Given the description of an element on the screen output the (x, y) to click on. 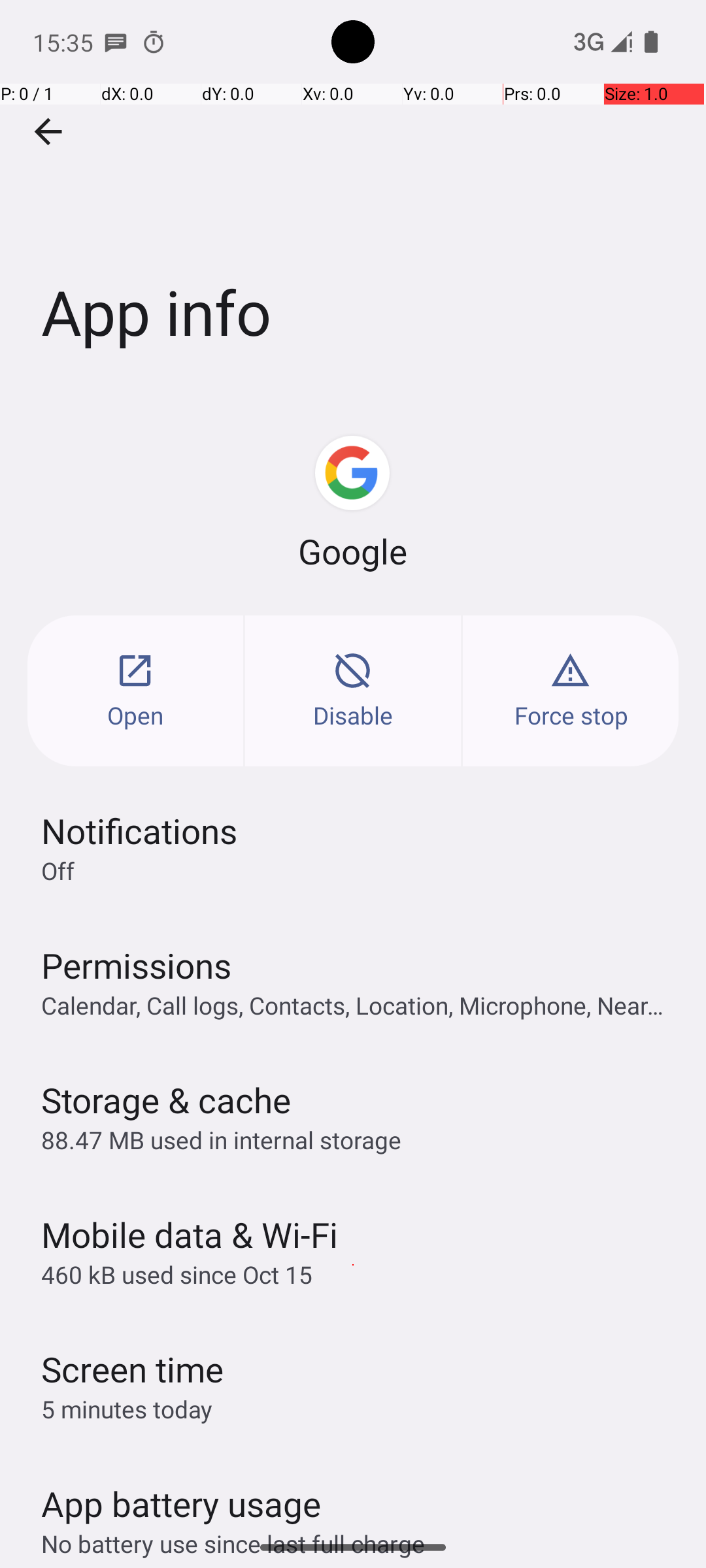
Calendar, Call logs, Contacts, Location, Microphone, Nearby devices, Phone, and SMS Element type: android.widget.TextView (359, 1004)
88.47 MB used in internal storage Element type: android.widget.TextView (221, 1139)
460 kB used since Oct 15 Element type: android.widget.TextView (176, 1273)
5 minutes today Element type: android.widget.TextView (127, 1408)
